Given the description of an element on the screen output the (x, y) to click on. 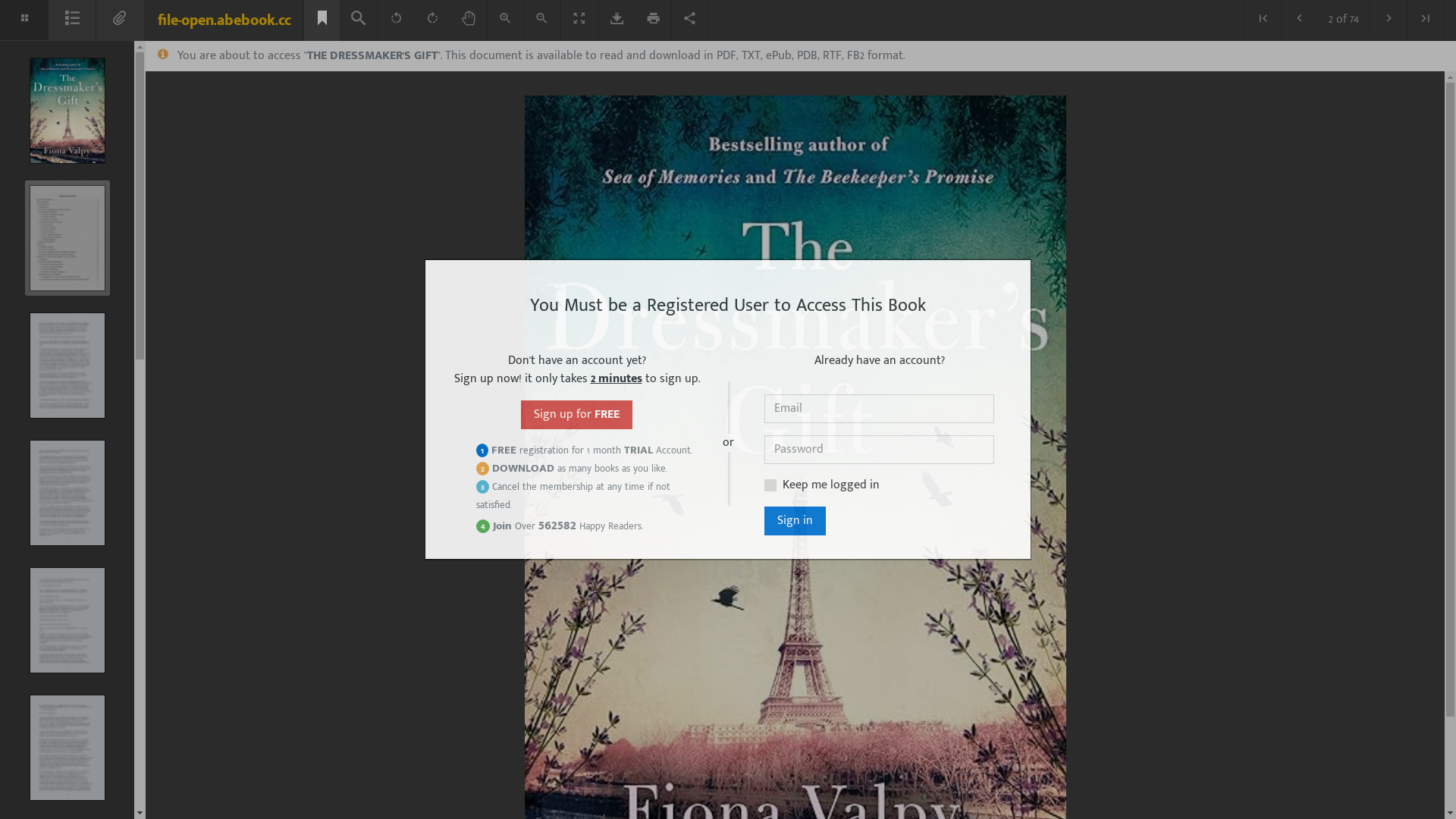
file-open.abebook.cc Element type: text (224, 20)
2 of 74 Element type: text (1343, 19)
Sign in Element type: text (794, 520)
